Given the description of an element on the screen output the (x, y) to click on. 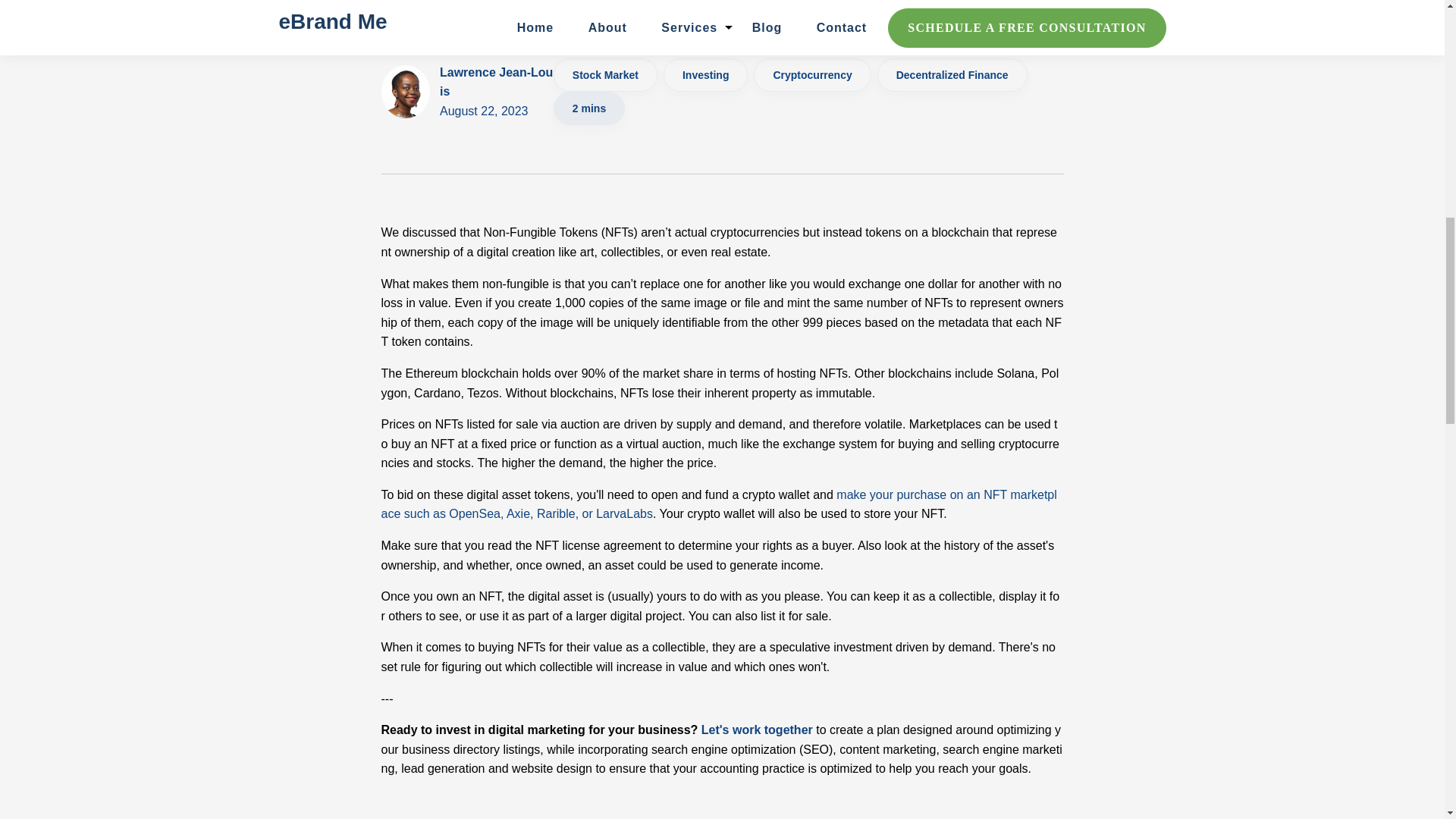
Stock Market (605, 74)
Decentralized Finance (952, 74)
Let's work together (756, 729)
Investing (496, 91)
Cryptocurrency (705, 74)
